Given the description of an element on the screen output the (x, y) to click on. 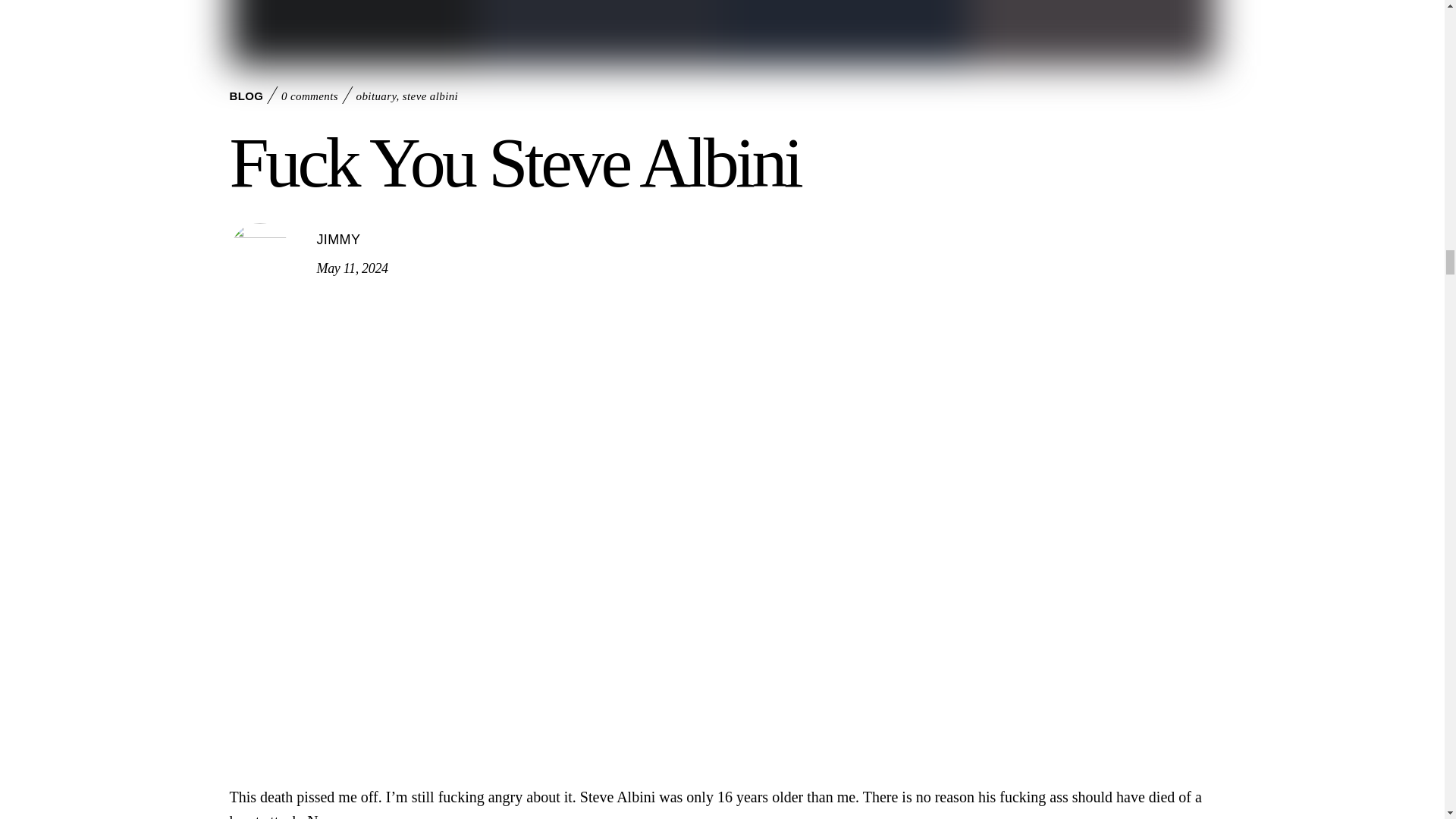
steve-albini (721, 33)
